Given the description of an element on the screen output the (x, y) to click on. 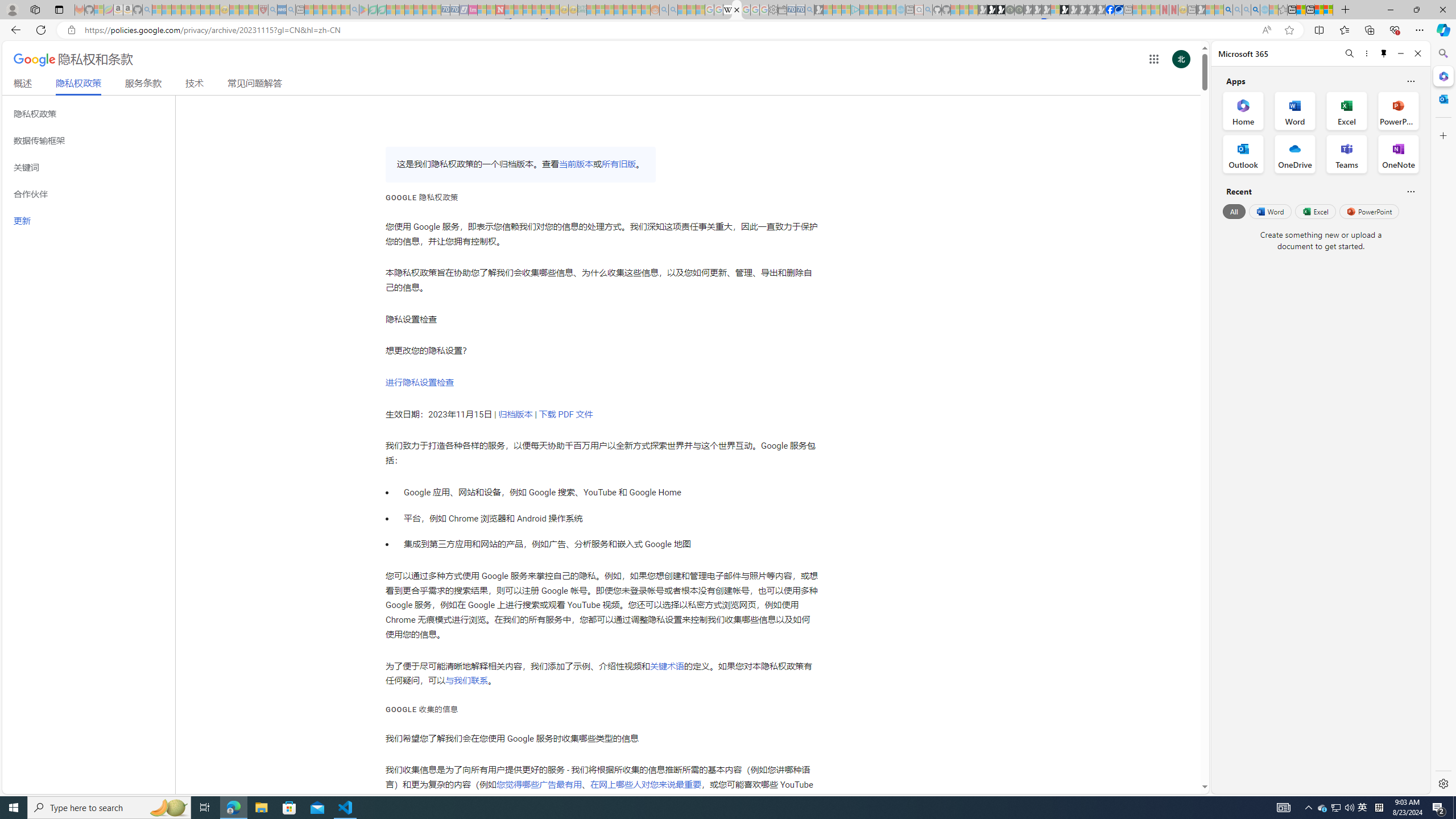
Google Chrome Internet Browser Download - Search Images (1255, 9)
